Given the description of an element on the screen output the (x, y) to click on. 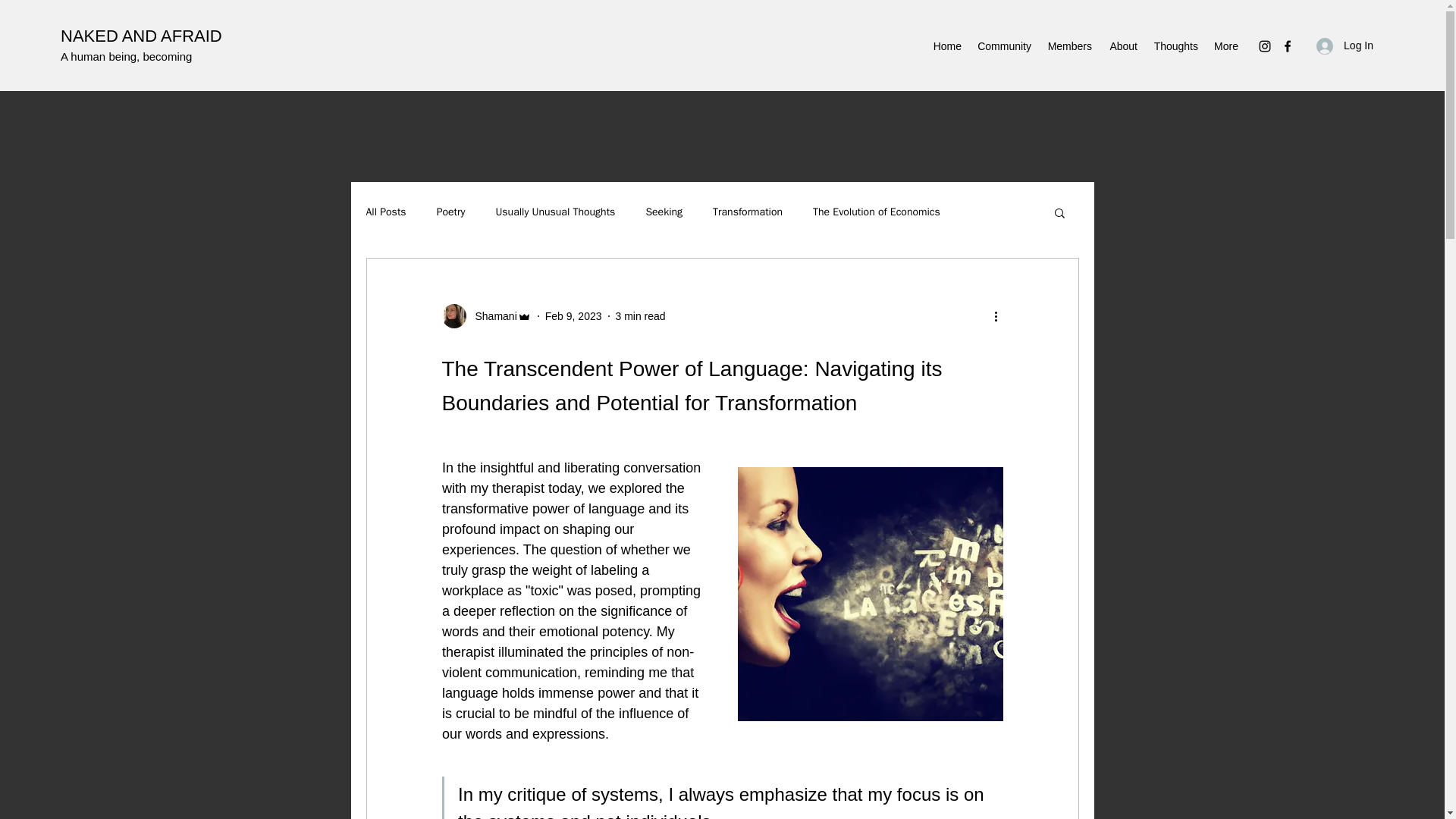
Feb 9, 2023 (573, 316)
Thoughts (1174, 46)
The Evolution of Economics (876, 212)
Members (1069, 46)
Shamani (490, 316)
Shamani (486, 315)
About (1121, 46)
Home (946, 46)
Seeking (663, 212)
NAKED AND AFRAID (141, 35)
Usually Unusual Thoughts (554, 212)
Poetry (450, 212)
Transformation (748, 212)
Log In (1345, 45)
All Posts (385, 212)
